Given the description of an element on the screen output the (x, y) to click on. 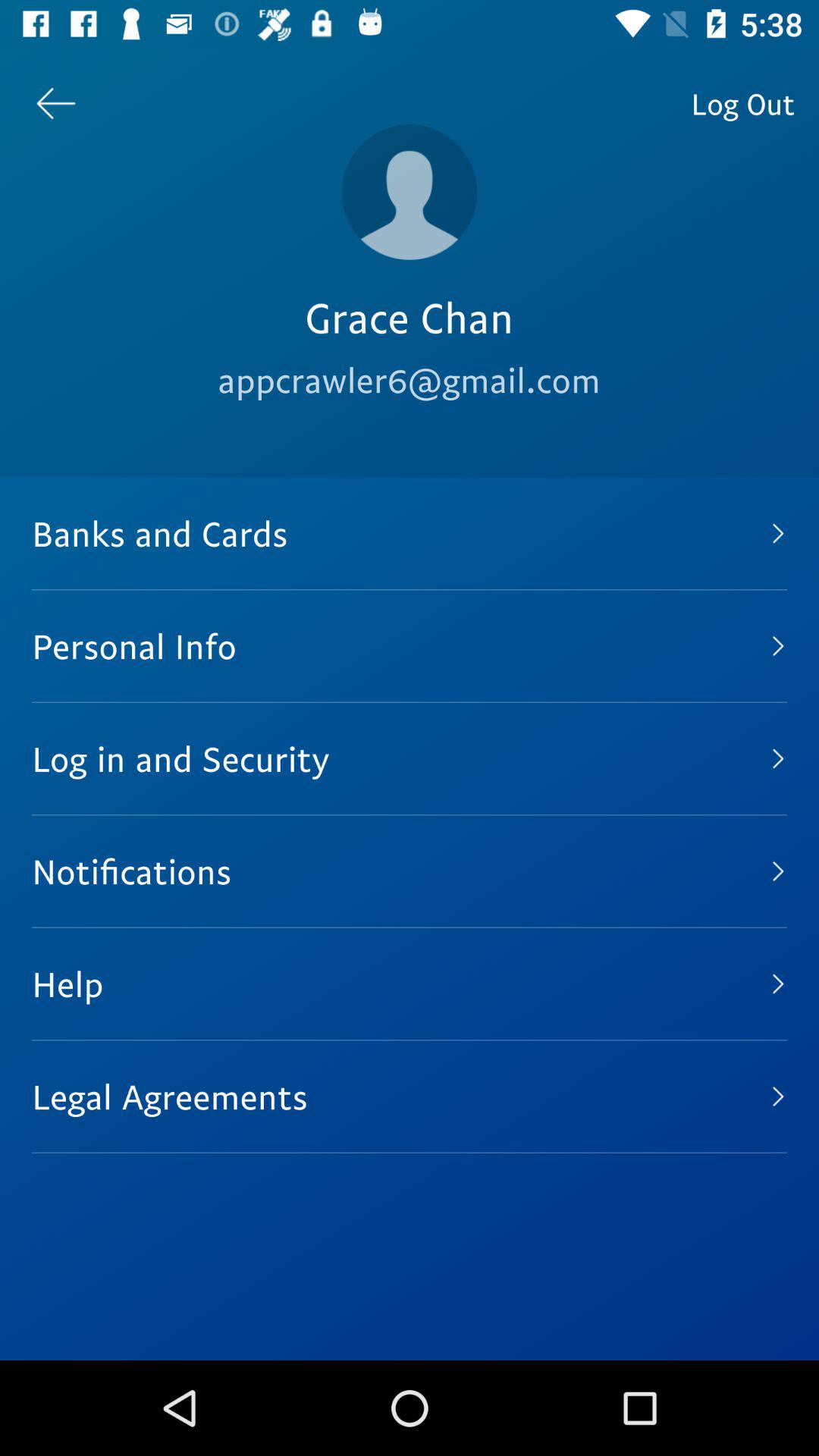
tap log out at the top right corner (743, 103)
